Given the description of an element on the screen output the (x, y) to click on. 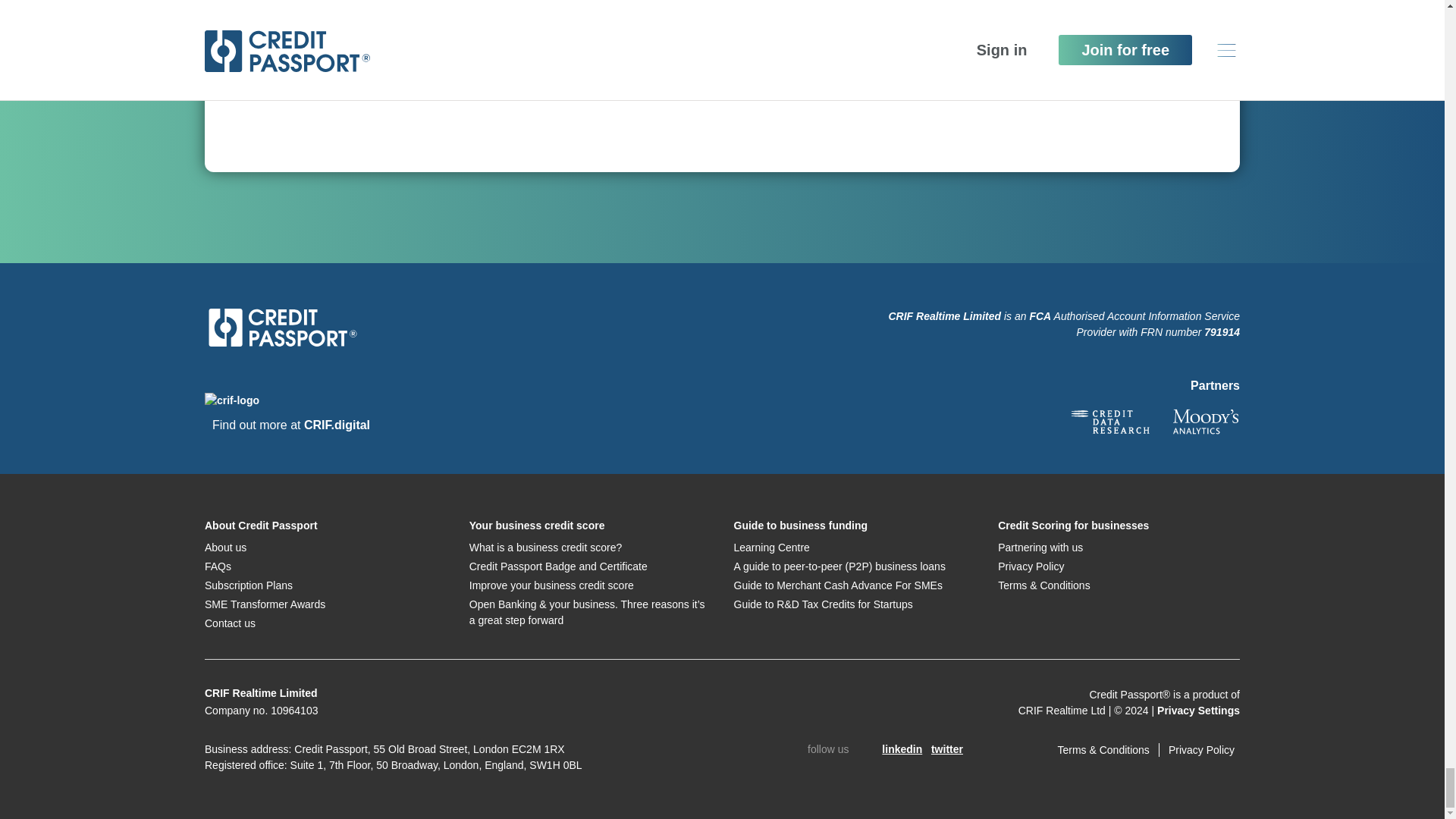
Credit Passport Badge and Certificate (557, 566)
About us (225, 547)
SME Transformer Awards (264, 604)
FAQs (218, 566)
Partnering with us (1040, 547)
Improve your business credit score (550, 585)
What is a business credit score? (545, 547)
Contact us (230, 623)
Privacy Policy (1030, 566)
Privacy Settings (1198, 710)
